Given the description of an element on the screen output the (x, y) to click on. 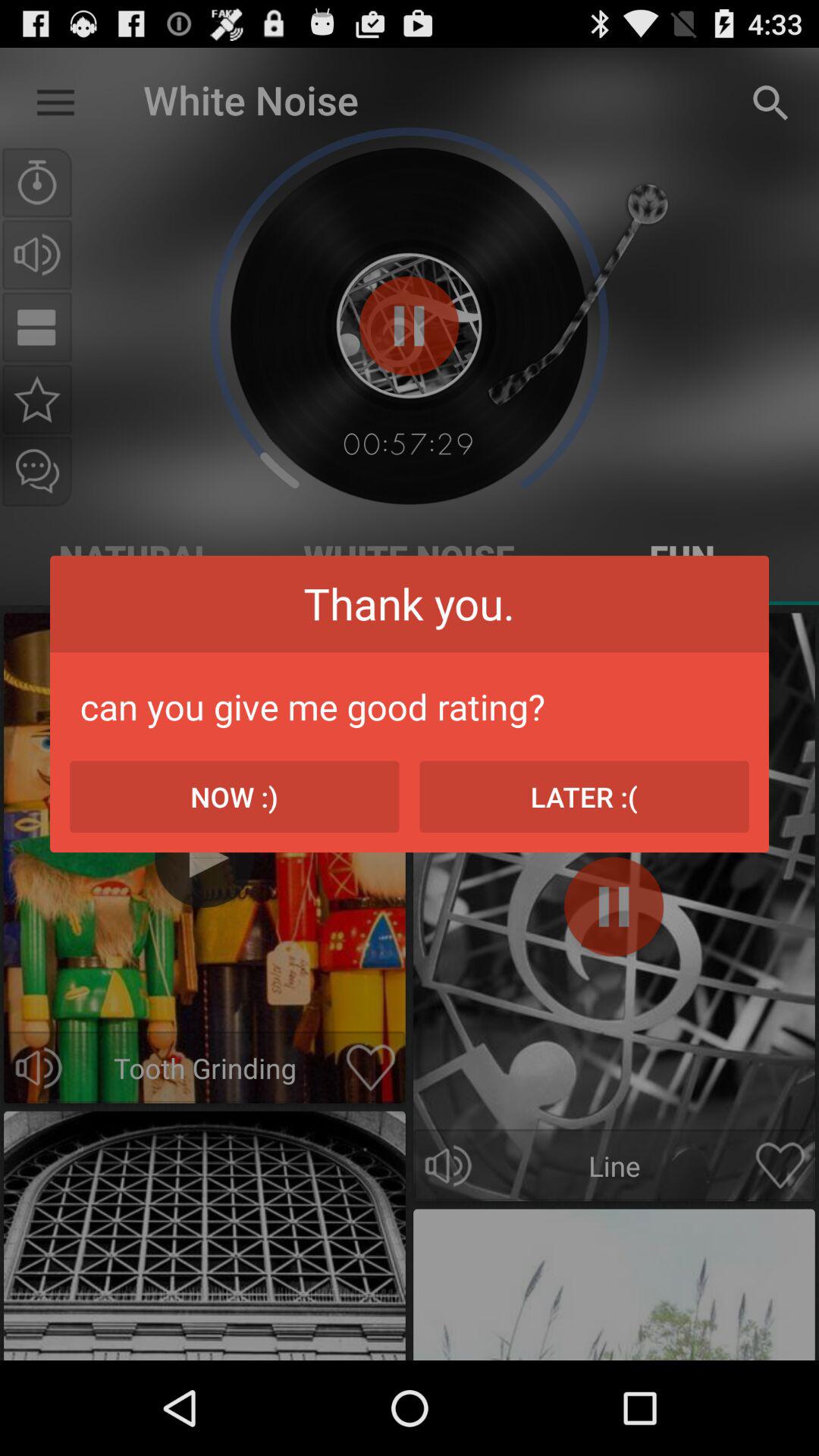
swipe until now :) icon (234, 796)
